Given the description of an element on the screen output the (x, y) to click on. 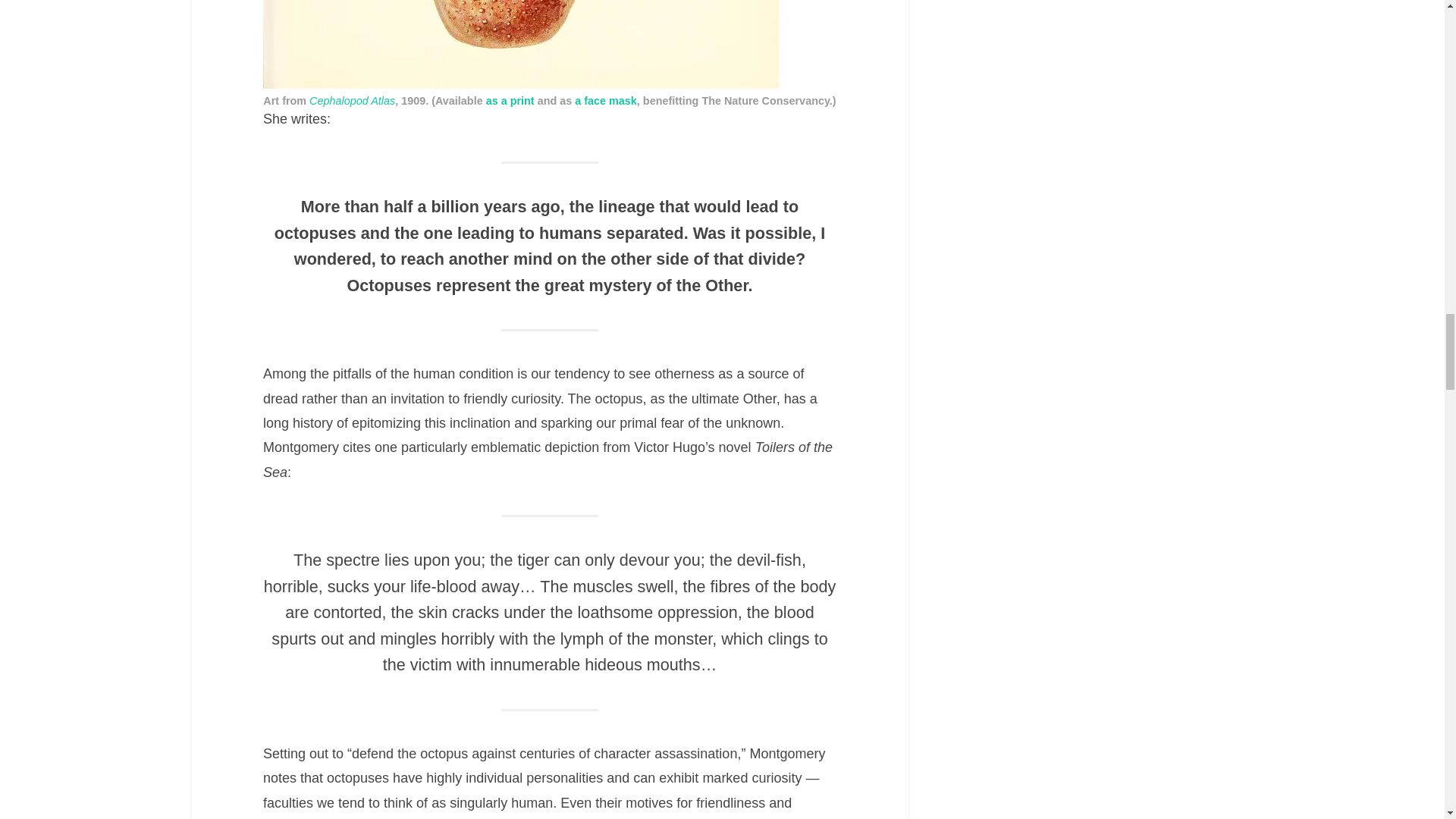
Cephalopod Atlas (351, 101)
as a print (510, 101)
a face mask (606, 101)
